Given the description of an element on the screen output the (x, y) to click on. 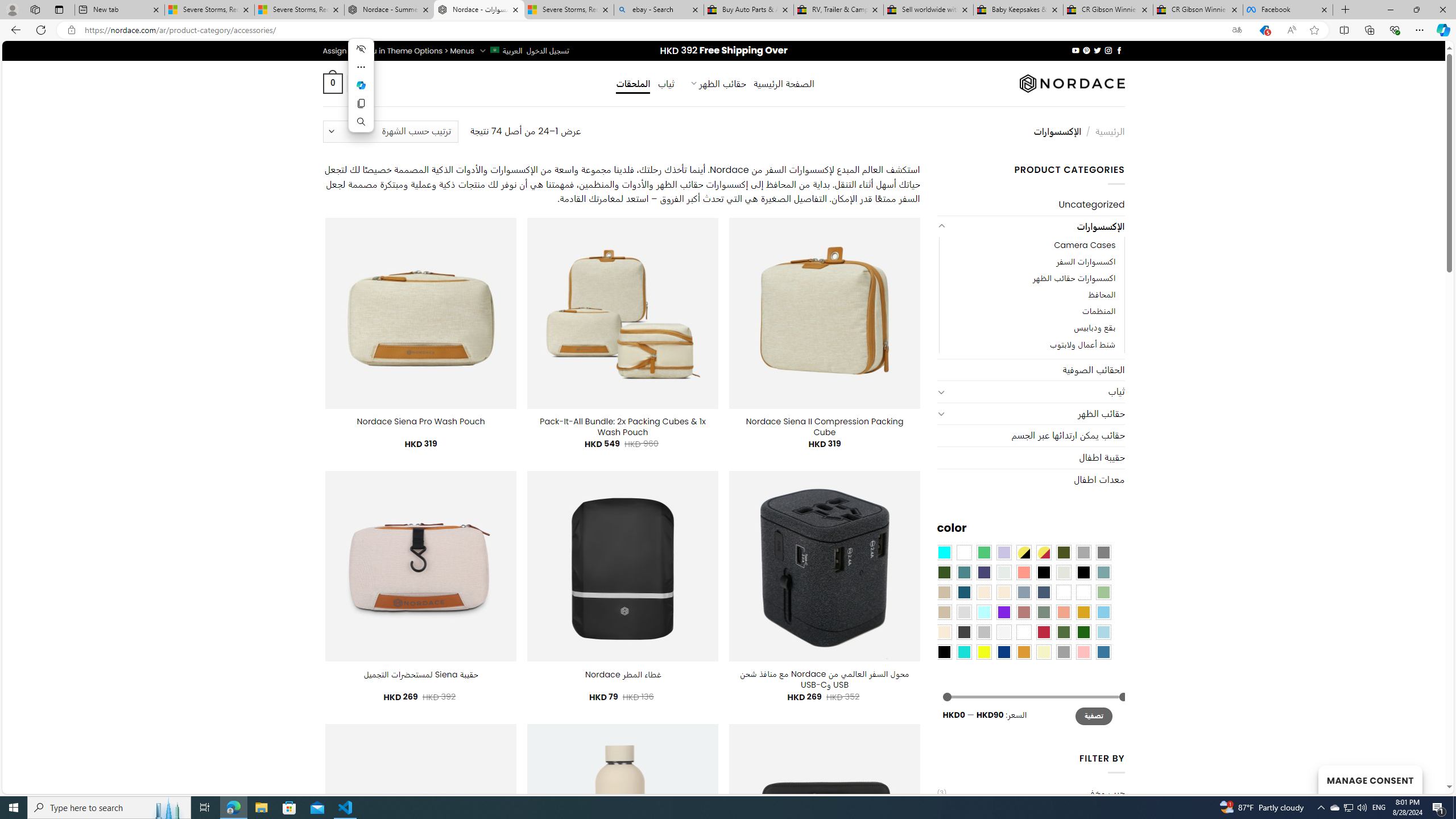
Collections (1369, 29)
Tab actions menu (58, 9)
Follow on Pinterest (1086, 50)
Brownie (944, 591)
Follow on Instagram (1108, 50)
Nordace (1072, 83)
